Given the description of an element on the screen output the (x, y) to click on. 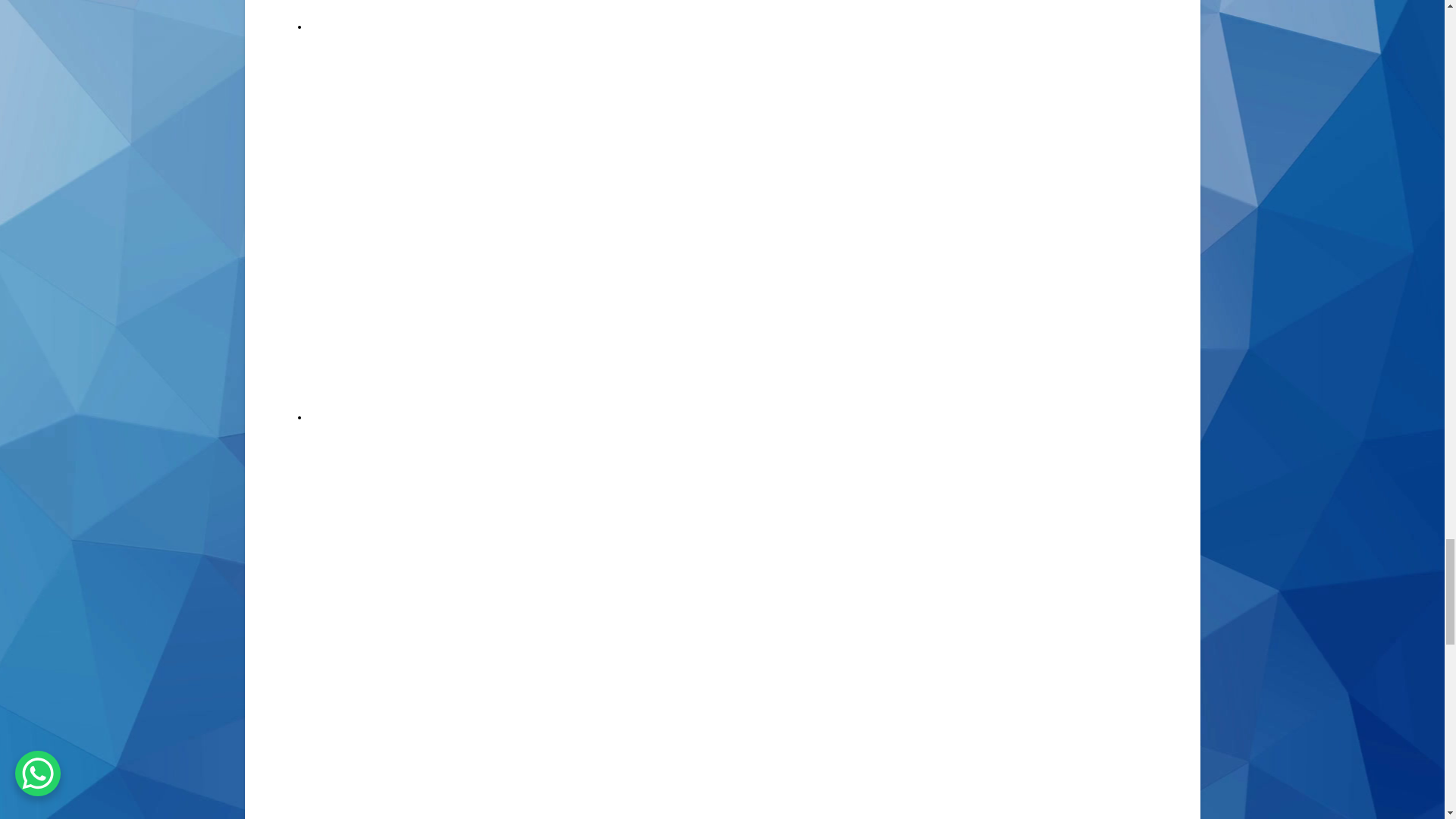
Dragon Boat Istanbul (536, 89)
istanbul dragon boat (687, 737)
